Given the description of an element on the screen output the (x, y) to click on. 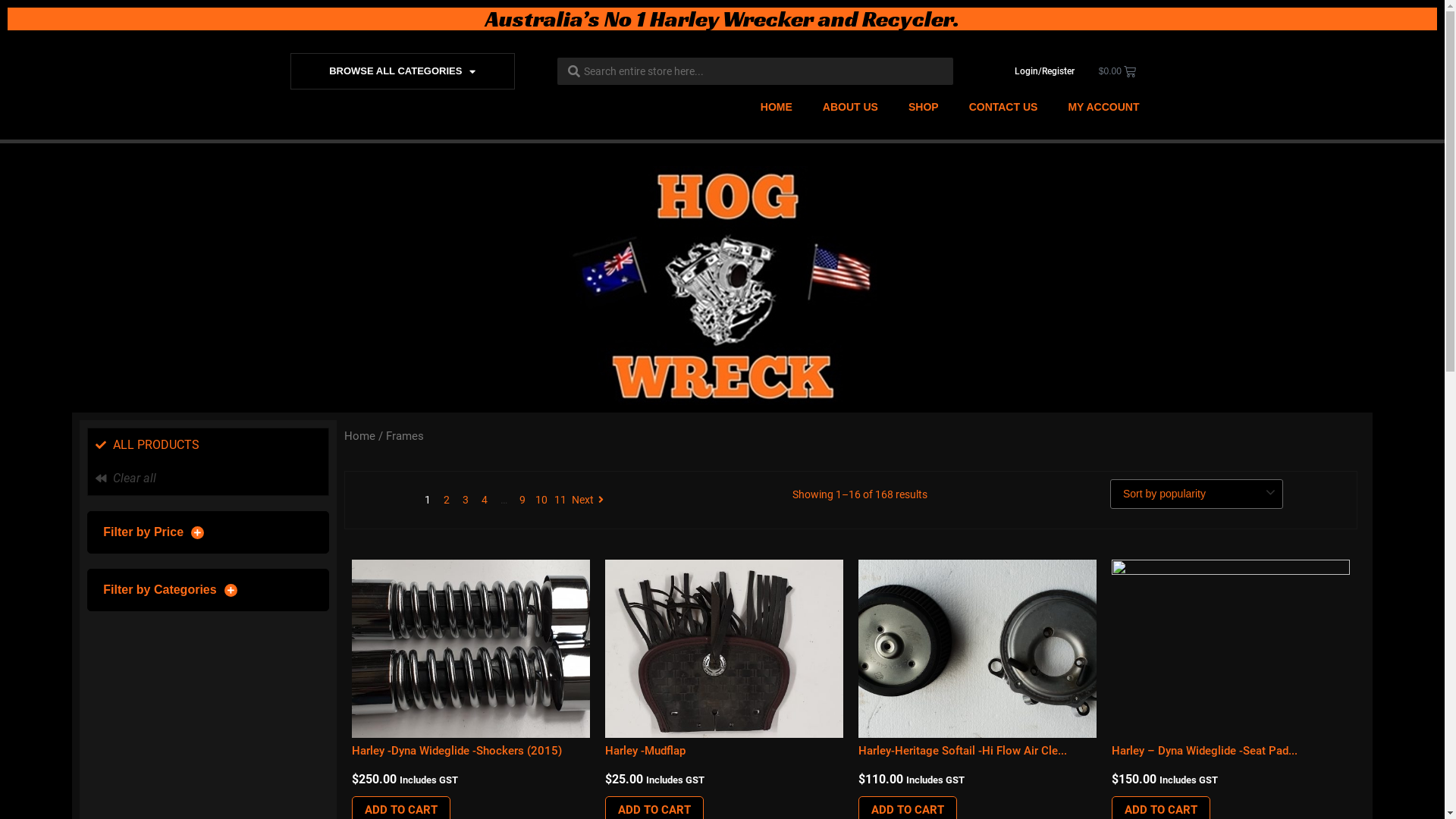
MY ACCOUNT Element type: text (1103, 106)
ABOUT US Element type: text (850, 106)
$0.00 Element type: text (1117, 71)
SHOP Element type: text (923, 106)
2 Element type: text (446, 500)
Harley -Mudflap Element type: text (645, 750)
Harley -Dyna Wideglide -Shockers (2015) Element type: text (456, 750)
Harley-Heritage Softail -Hi Flow Air Cle... Element type: text (962, 750)
Clear all Element type: text (207, 478)
Login/Register Element type: text (1044, 70)
11 Element type: text (559, 500)
HOME Element type: text (776, 106)
ALL PRODUCTS Element type: text (207, 445)
CONTACT US Element type: text (1003, 106)
BROWSE ALL CATEGORIES Element type: text (402, 70)
10 Element type: text (541, 500)
3 Element type: text (465, 500)
Next Element type: text (589, 500)
Home Element type: text (359, 435)
4 Element type: text (484, 500)
9 Element type: text (522, 500)
